Given the description of an element on the screen output the (x, y) to click on. 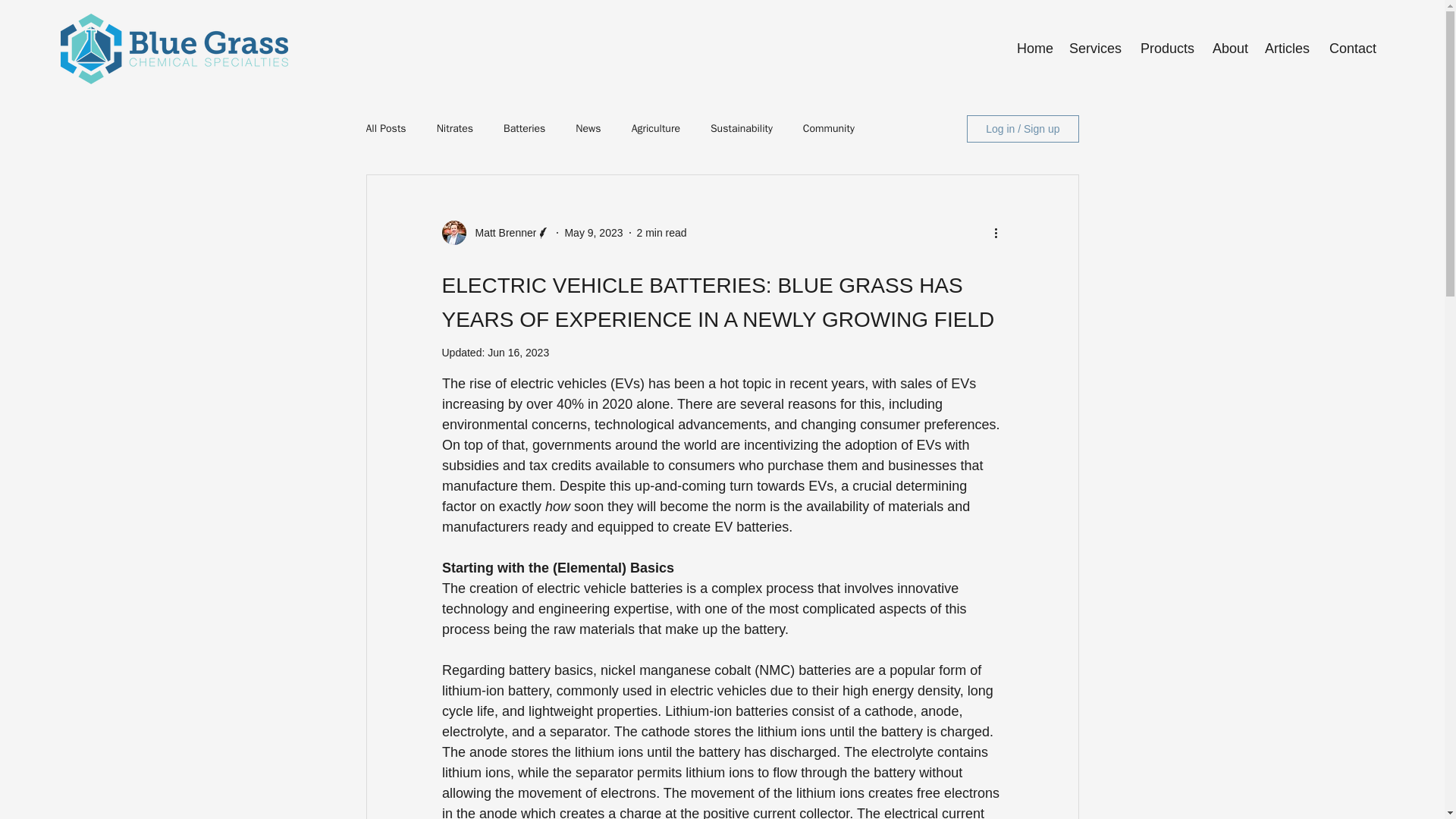
Sustainability (741, 128)
2 min read (662, 232)
Jun 16, 2023 (517, 352)
Nitrates (454, 128)
Batteries (523, 128)
May 9, 2023 (593, 232)
Agriculture (655, 128)
Articles (1286, 48)
Contact (1350, 48)
Services (1095, 48)
All Posts (385, 128)
About (1228, 48)
Home (1034, 48)
Matt Brenner (500, 232)
Community (828, 128)
